Given the description of an element on the screen output the (x, y) to click on. 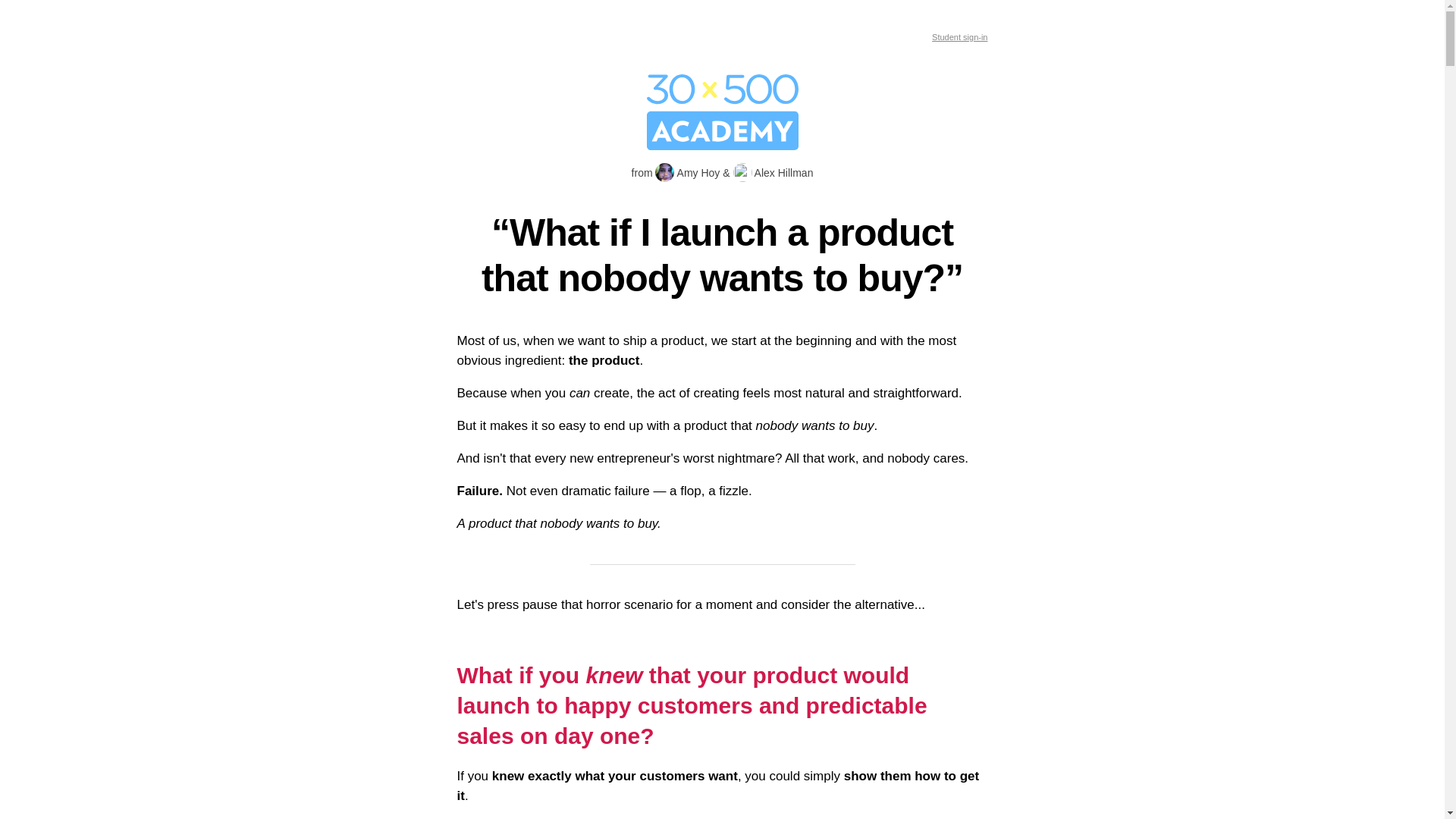
Student sign-in Element type: text (959, 36)
